Given the description of an element on the screen output the (x, y) to click on. 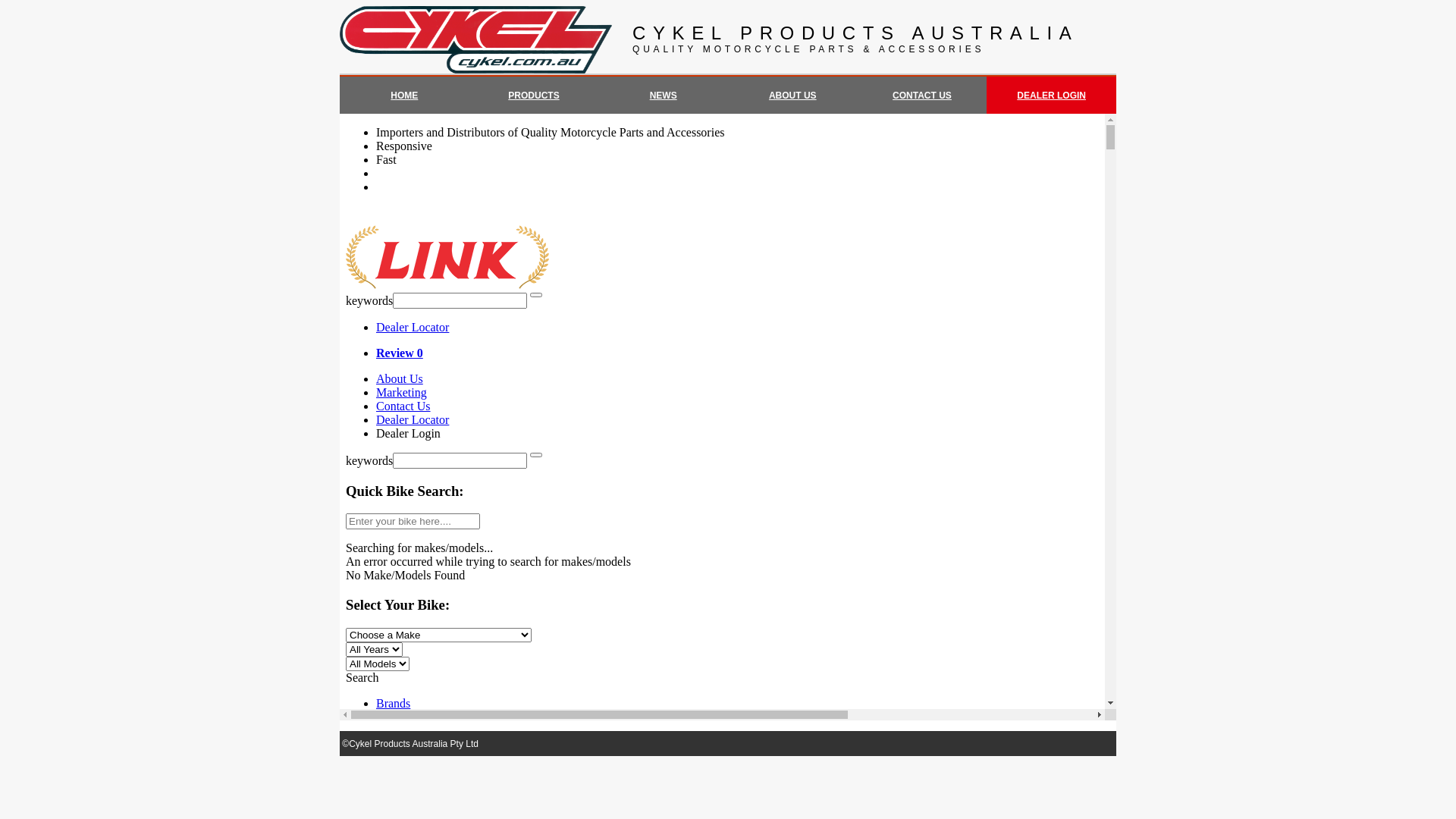
ABOUT US Element type: text (792, 94)
HOME Element type: text (403, 94)
DEALER LOGIN Element type: text (1050, 94)
PRODUCTS Element type: text (533, 94)
CONTACT US Element type: text (921, 94)
NEWS Element type: text (663, 94)
